Given the description of an element on the screen output the (x, y) to click on. 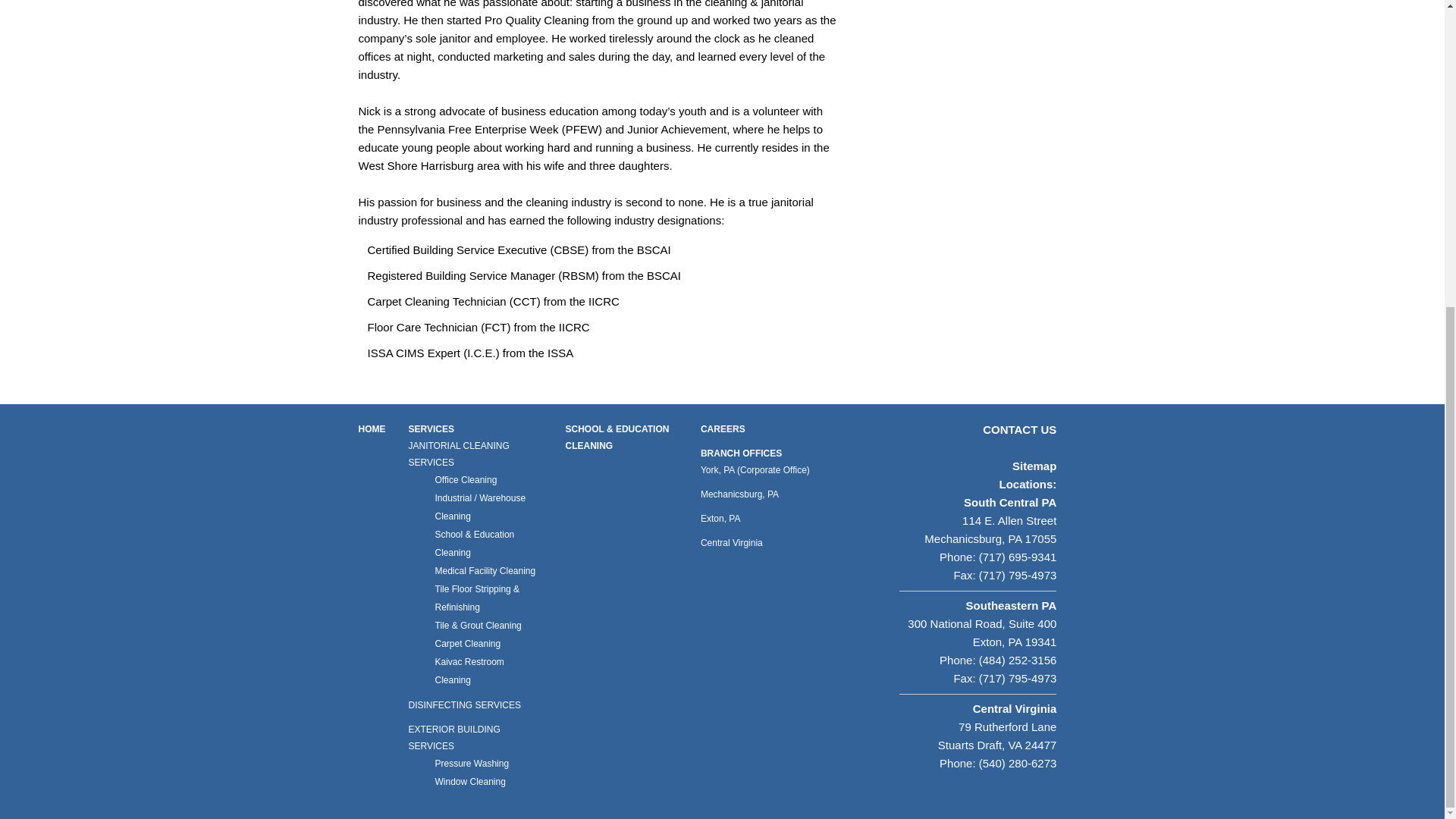
Carpet Cleaning (474, 643)
SERVICES (429, 428)
Medical Facility Cleaning (474, 570)
Office Cleaning (474, 479)
JANITORIAL CLEANING SERVICES (474, 453)
HOME (371, 428)
